Given the description of an element on the screen output the (x, y) to click on. 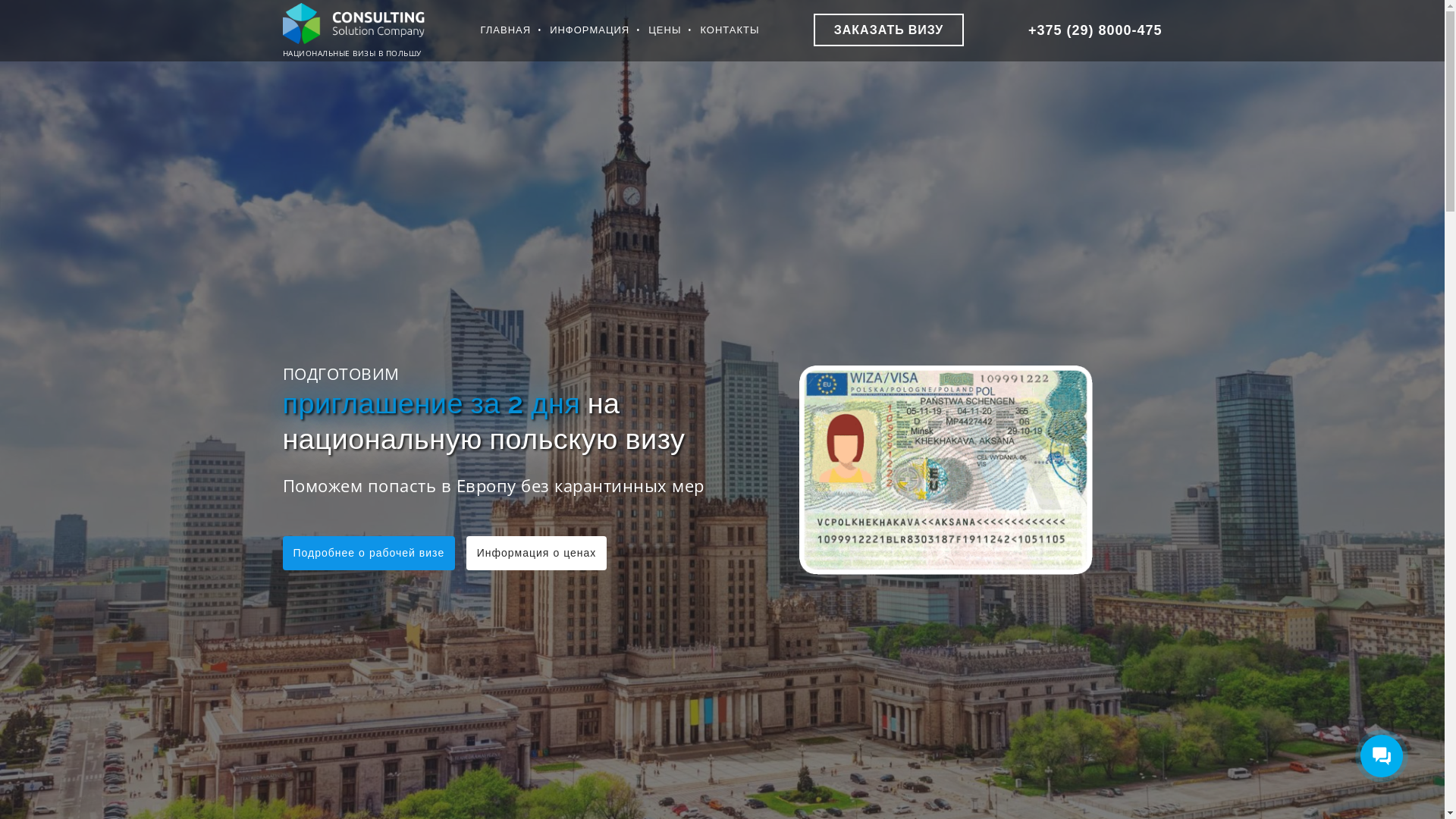
+375 (29) 8000-475 Element type: text (1085, 30)
